Given the description of an element on the screen output the (x, y) to click on. 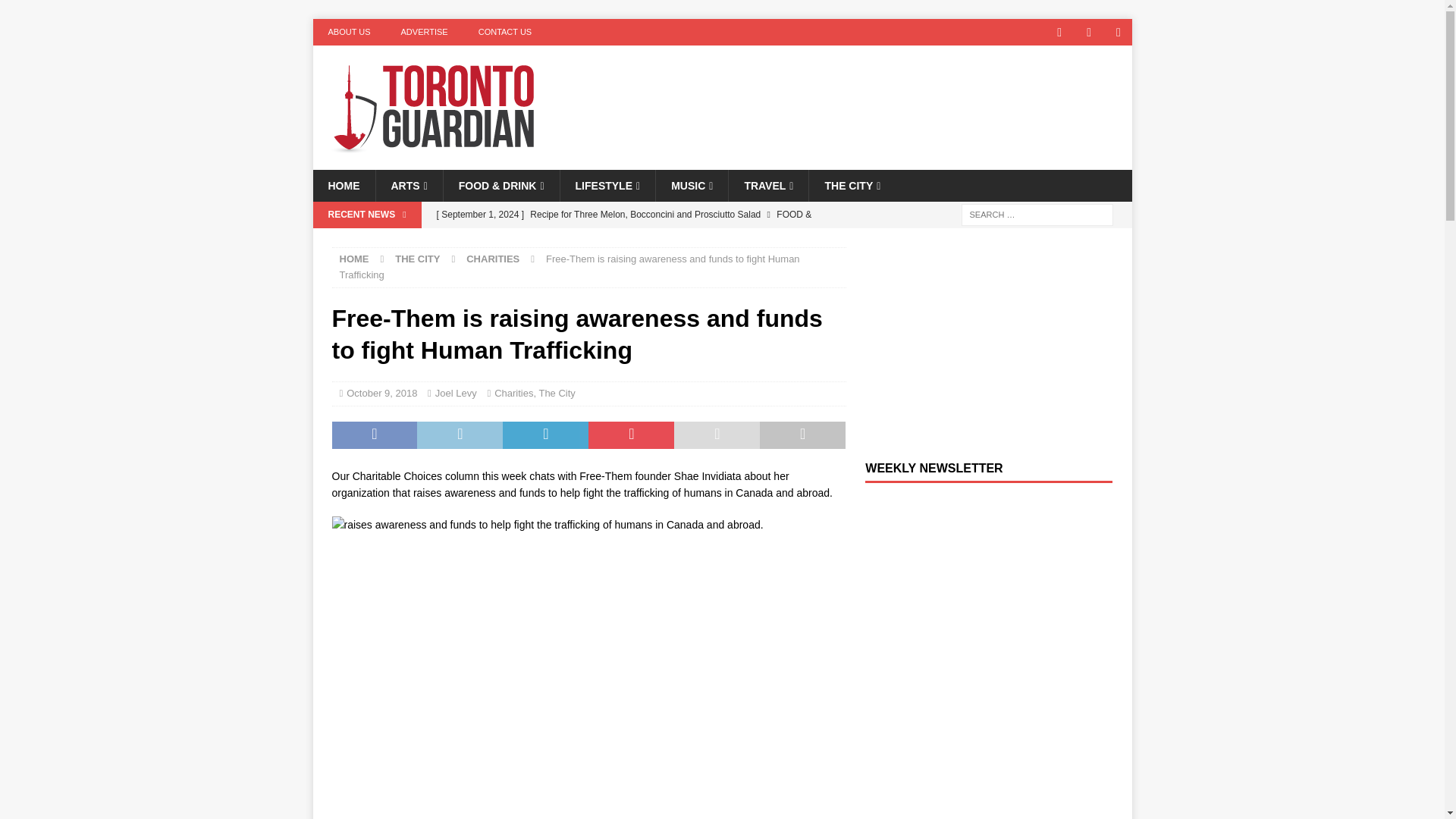
Recipe for Three Melon, Bocconcini and Prosciutto Salad (636, 227)
HOME (343, 185)
ABOUT US (349, 31)
TRAVEL (768, 185)
CONTACT US (505, 31)
LIFESTYLE (607, 185)
ARTS (408, 185)
MUSIC (691, 185)
ADVERTISE (424, 31)
